Given the description of an element on the screen output the (x, y) to click on. 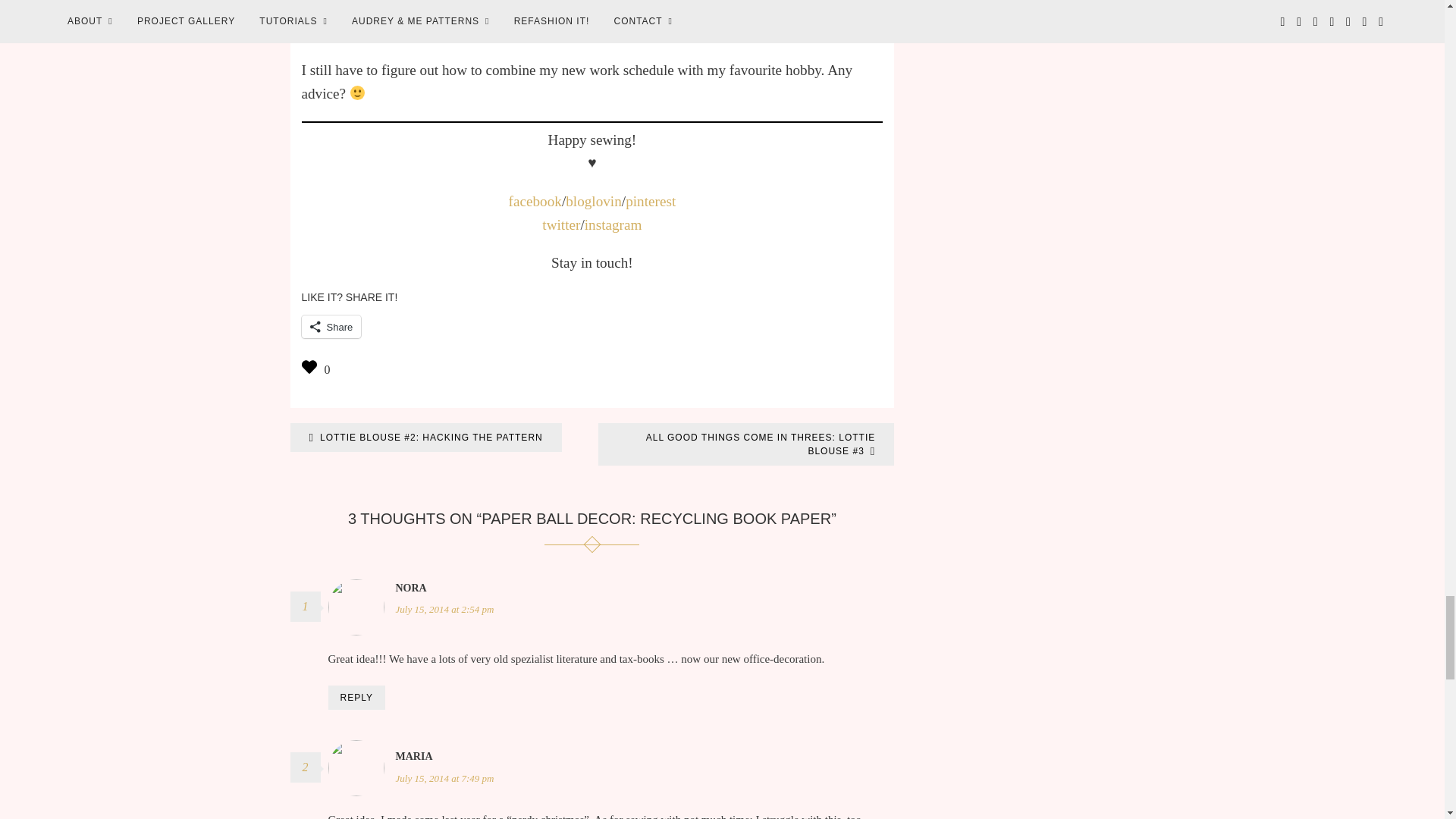
facebook page (535, 201)
bloglovin page (593, 201)
pinterest page (650, 201)
